Given the description of an element on the screen output the (x, y) to click on. 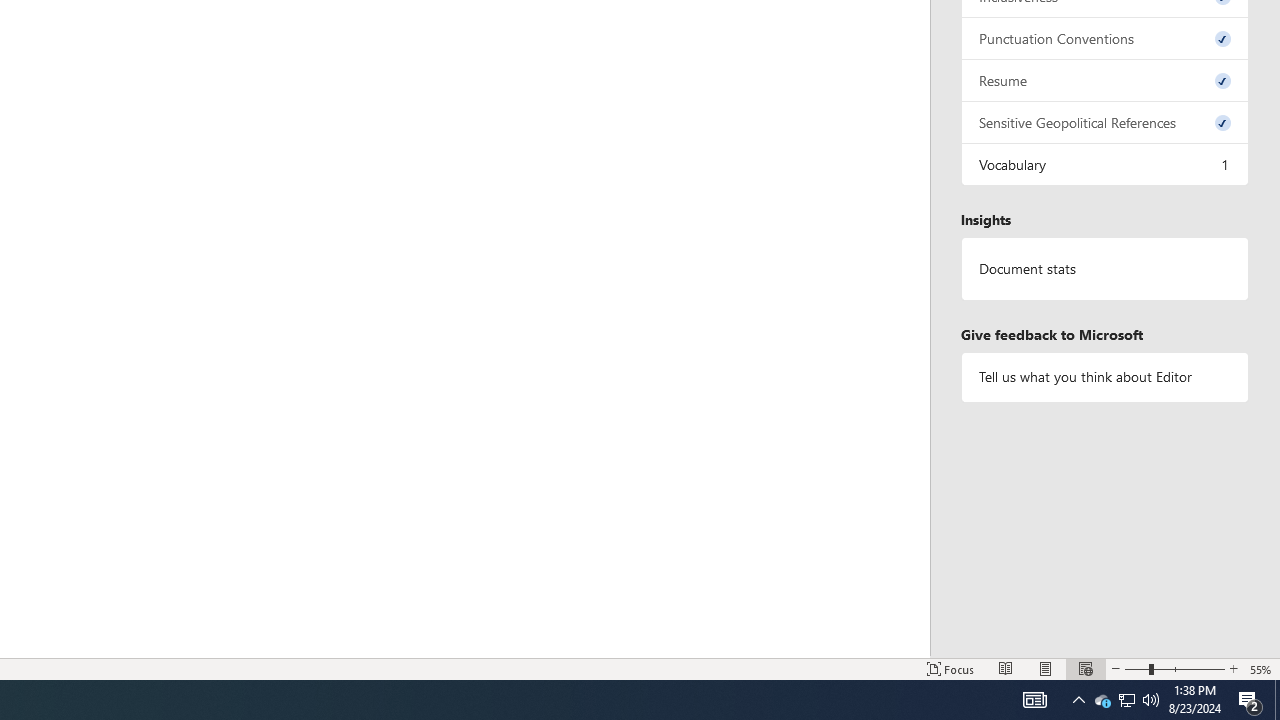
Zoom 55% (1261, 668)
Vocabulary, 1 issue. Press space or enter to review items. (1105, 164)
Tell us what you think about Editor (1105, 376)
Document statistics (1105, 269)
Resume, 0 issues. Press space or enter to review items. (1105, 79)
